Given the description of an element on the screen output the (x, y) to click on. 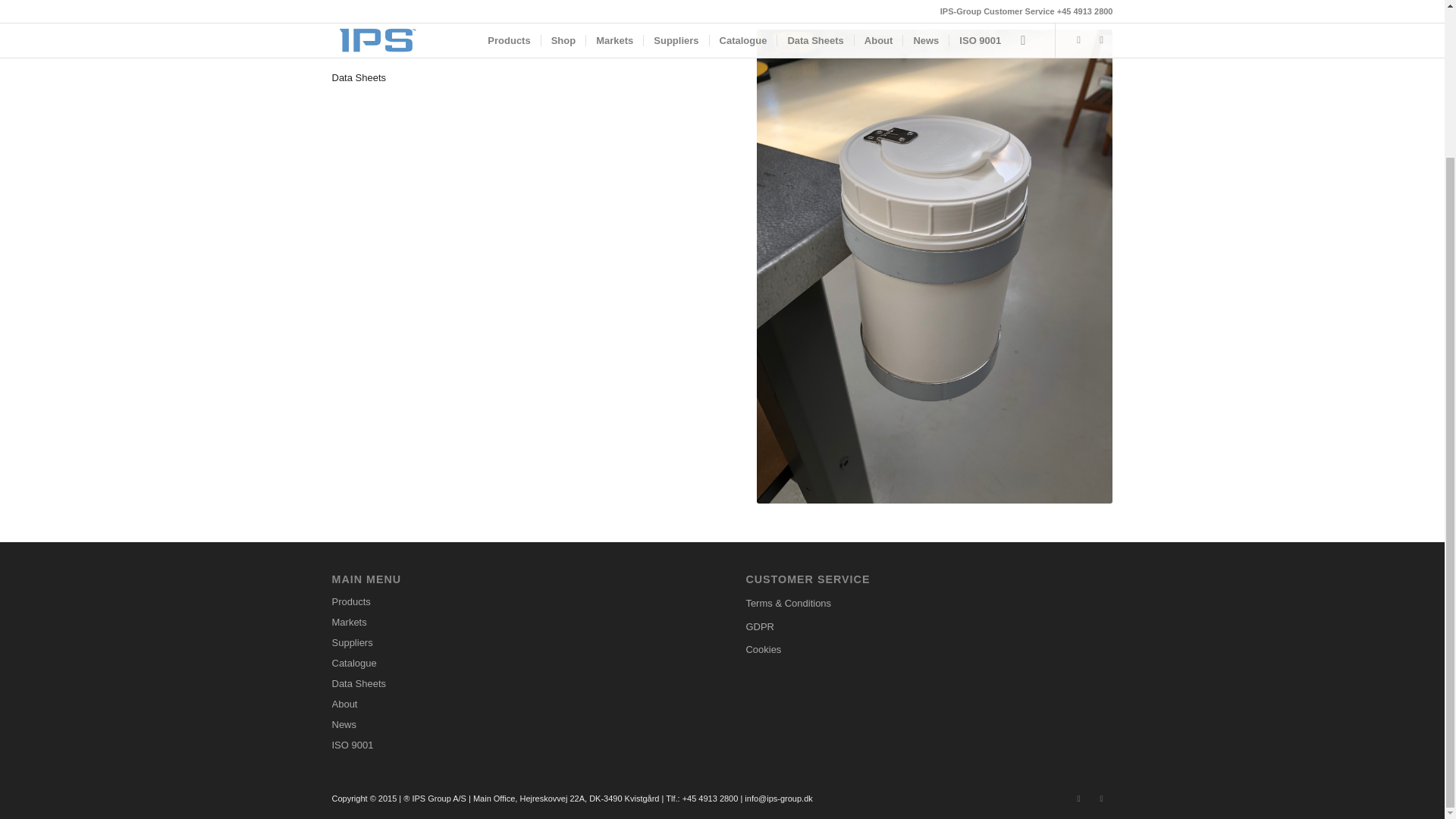
Markets (514, 622)
Data Sheets (359, 77)
Facebook (1101, 798)
LinkedIn (1078, 798)
Products (514, 602)
